Given the description of an element on the screen output the (x, y) to click on. 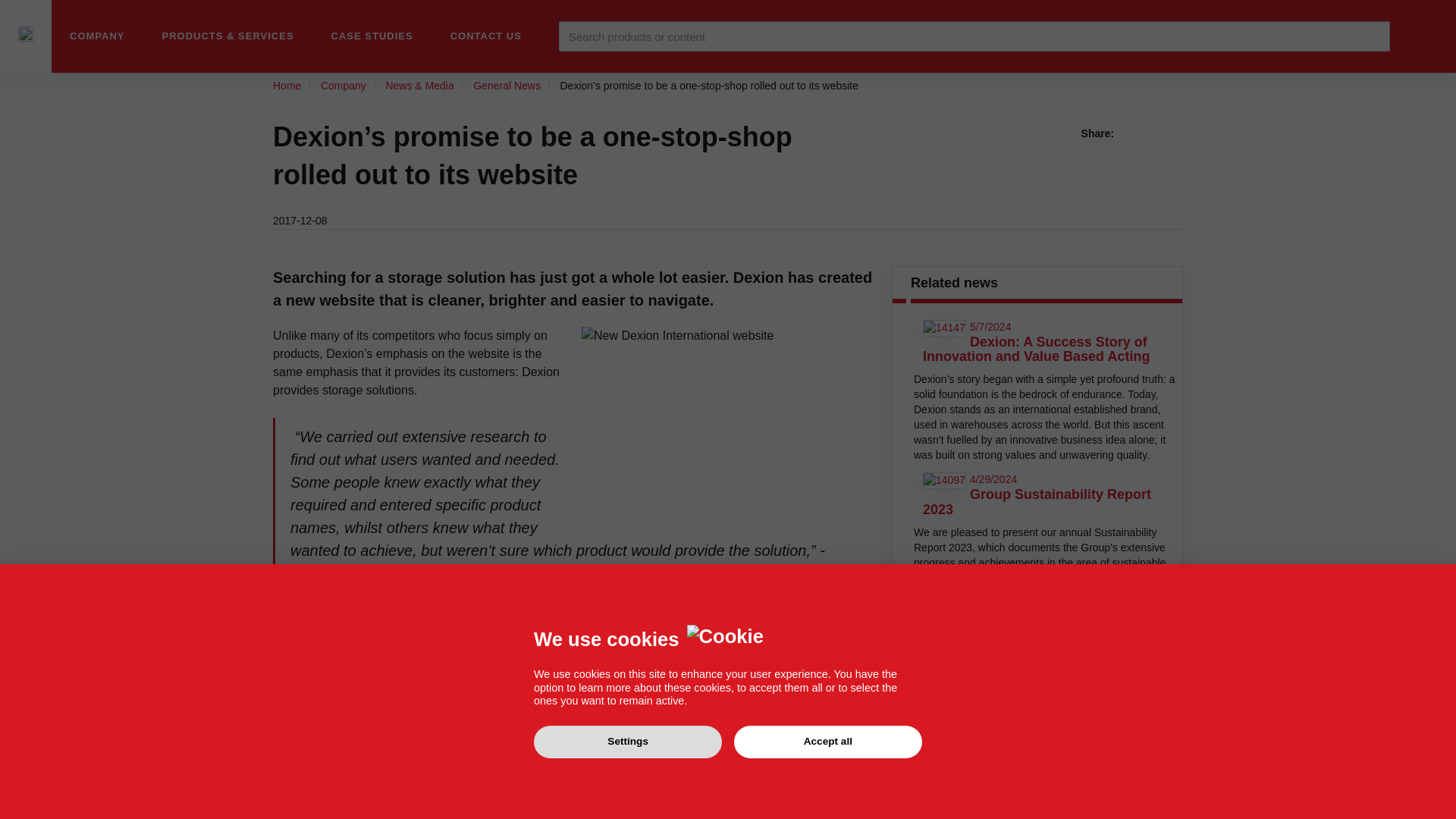
shareIcon.NetworkName (1153, 133)
industry (293, 670)
Case studies (372, 36)
product (689, 652)
shareIcon.NetworkName (1174, 133)
service (817, 652)
industries (362, 725)
case studies (676, 743)
New Dexion International website (721, 426)
shareIcon.NetworkName (1133, 133)
